Given the description of an element on the screen output the (x, y) to click on. 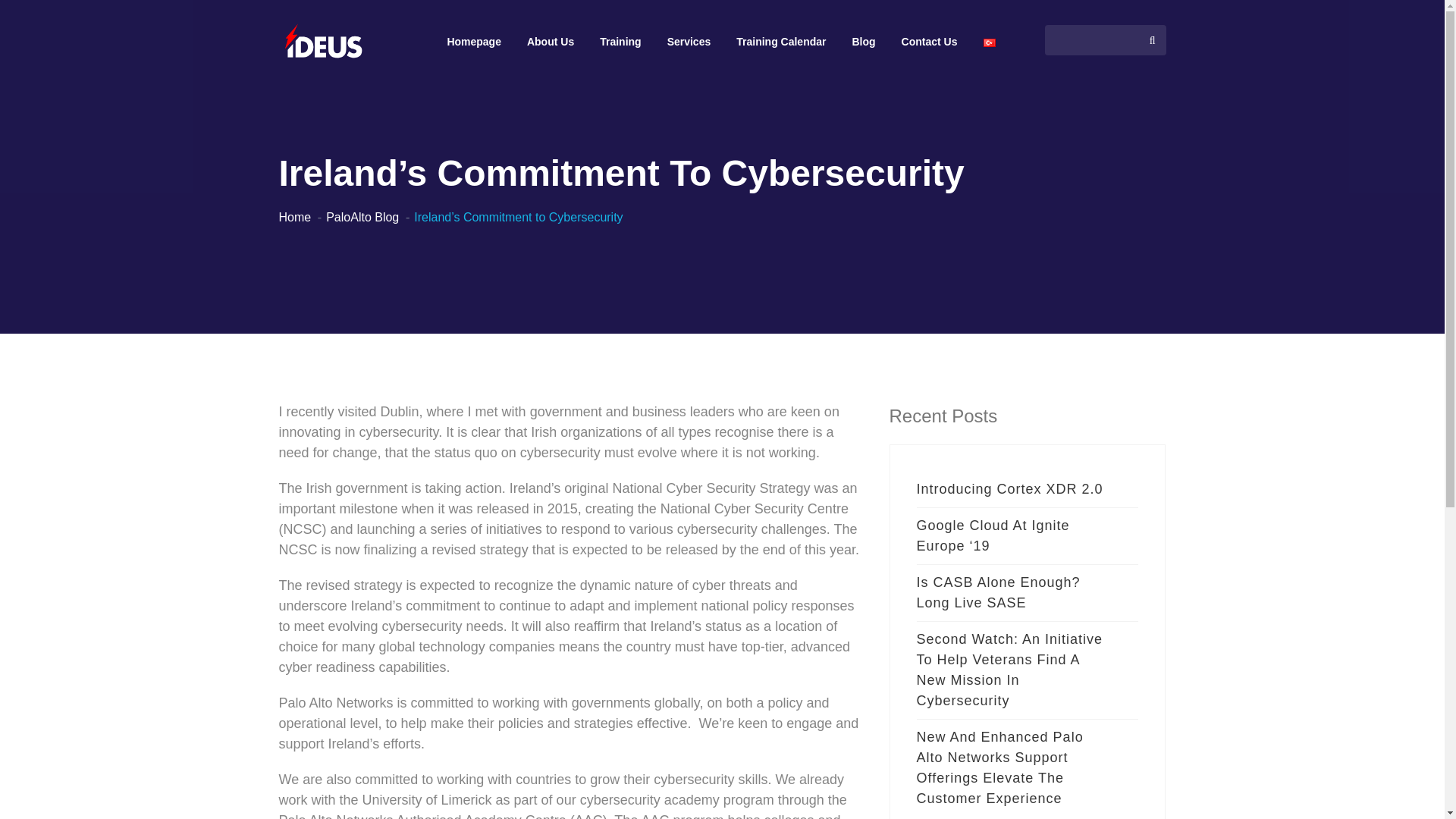
Homepage (473, 41)
Title (324, 45)
Home (295, 216)
Training Calendar (780, 41)
Contact Us (929, 41)
Is CASB Alone Enough? Long Live SASE (1013, 592)
Training Calendar (780, 41)
Introducing Cortex XDR 2.0 (1013, 488)
Homepage (473, 41)
Contact Us (929, 41)
PaloAlto Blog (362, 216)
